Given the description of an element on the screen output the (x, y) to click on. 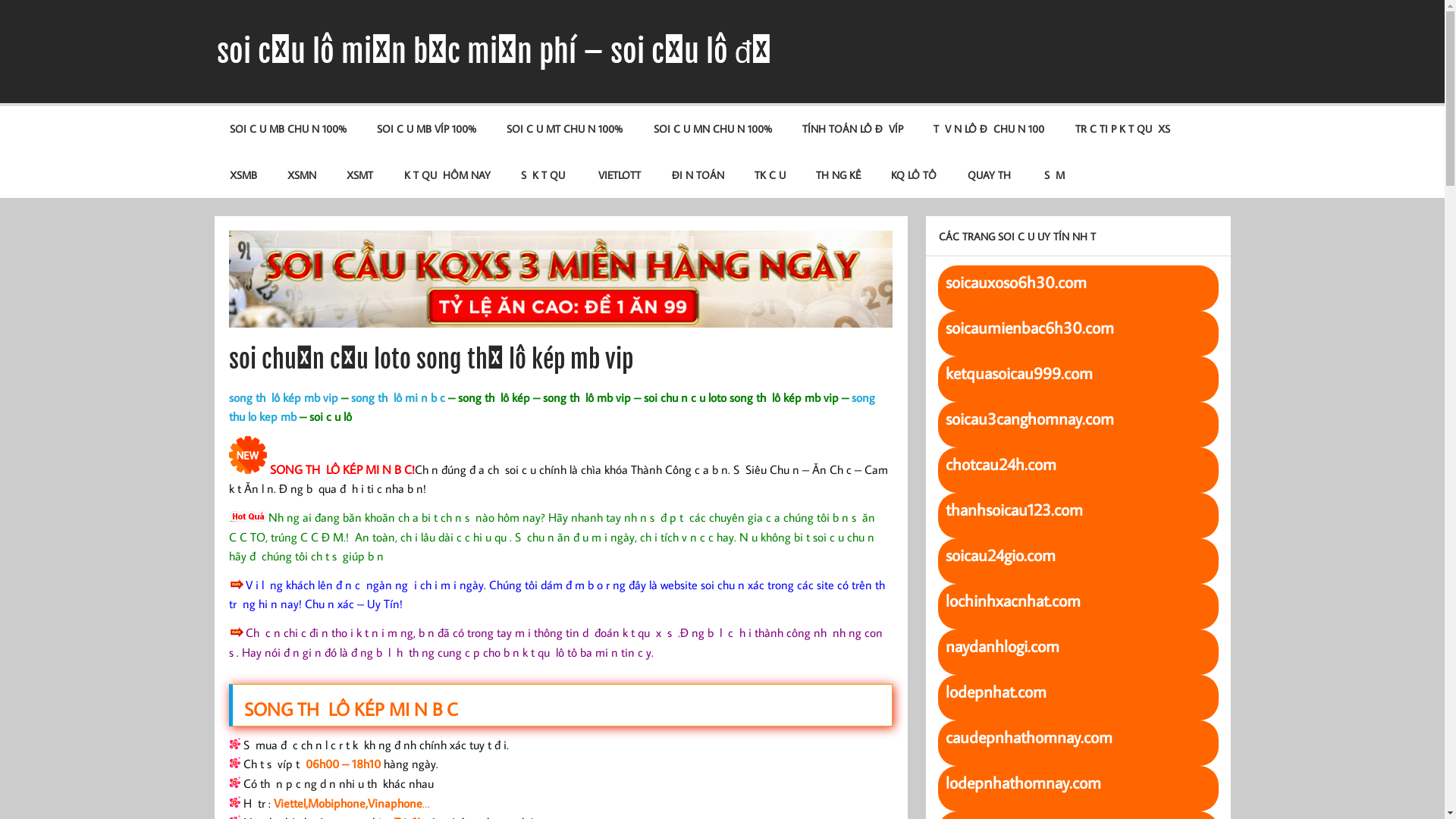
lochinhxacnhat.com Element type: text (1011, 601)
XSMN Element type: text (301, 174)
soicauxoso6h30.com Element type: text (1014, 283)
Skip to content Element type: text (0, 0)
ketquasoicau999.com Element type: text (1018, 374)
lodepnhat.com Element type: text (994, 692)
VIETLOTT Element type: text (619, 174)
XSMB Element type: text (242, 174)
soicau3canghomnay.com Element type: text (1028, 419)
thanhsoicau123.com Element type: text (1013, 510)
XSMT Element type: text (359, 174)
soicau24gio.com Element type: text (999, 556)
caudepnhathomnay.com Element type: text (1027, 738)
chotcau24h.com Element type: text (999, 465)
soicaumienbac6h30.com Element type: text (1028, 328)
naydanhlogi.com Element type: text (1001, 647)
lodepnhathomnay.com Element type: text (1022, 783)
song thu lo kep mb Element type: text (552, 406)
